Given the description of an element on the screen output the (x, y) to click on. 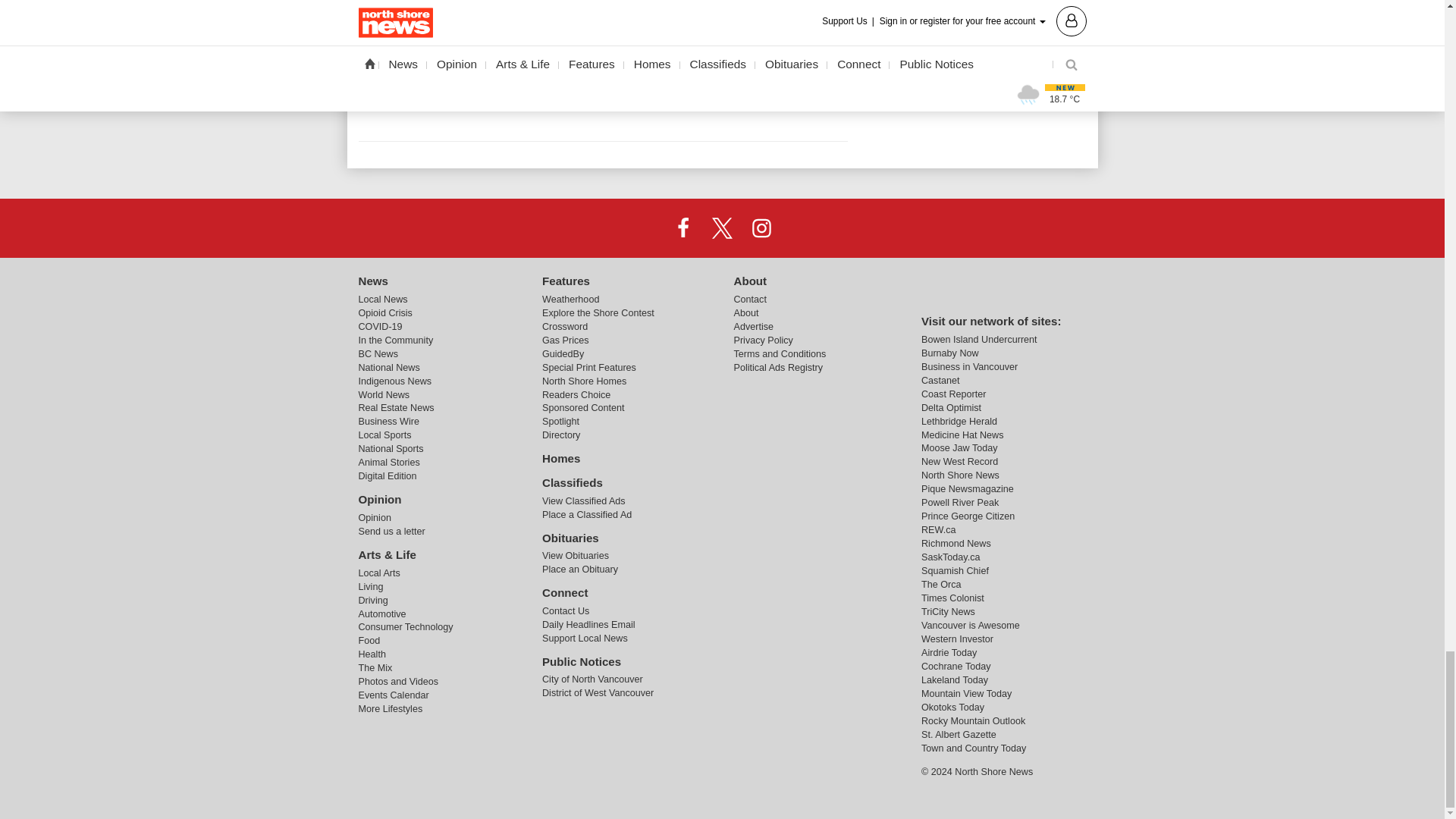
X (721, 226)
Instagram (760, 226)
Facebook (683, 226)
